Given the description of an element on the screen output the (x, y) to click on. 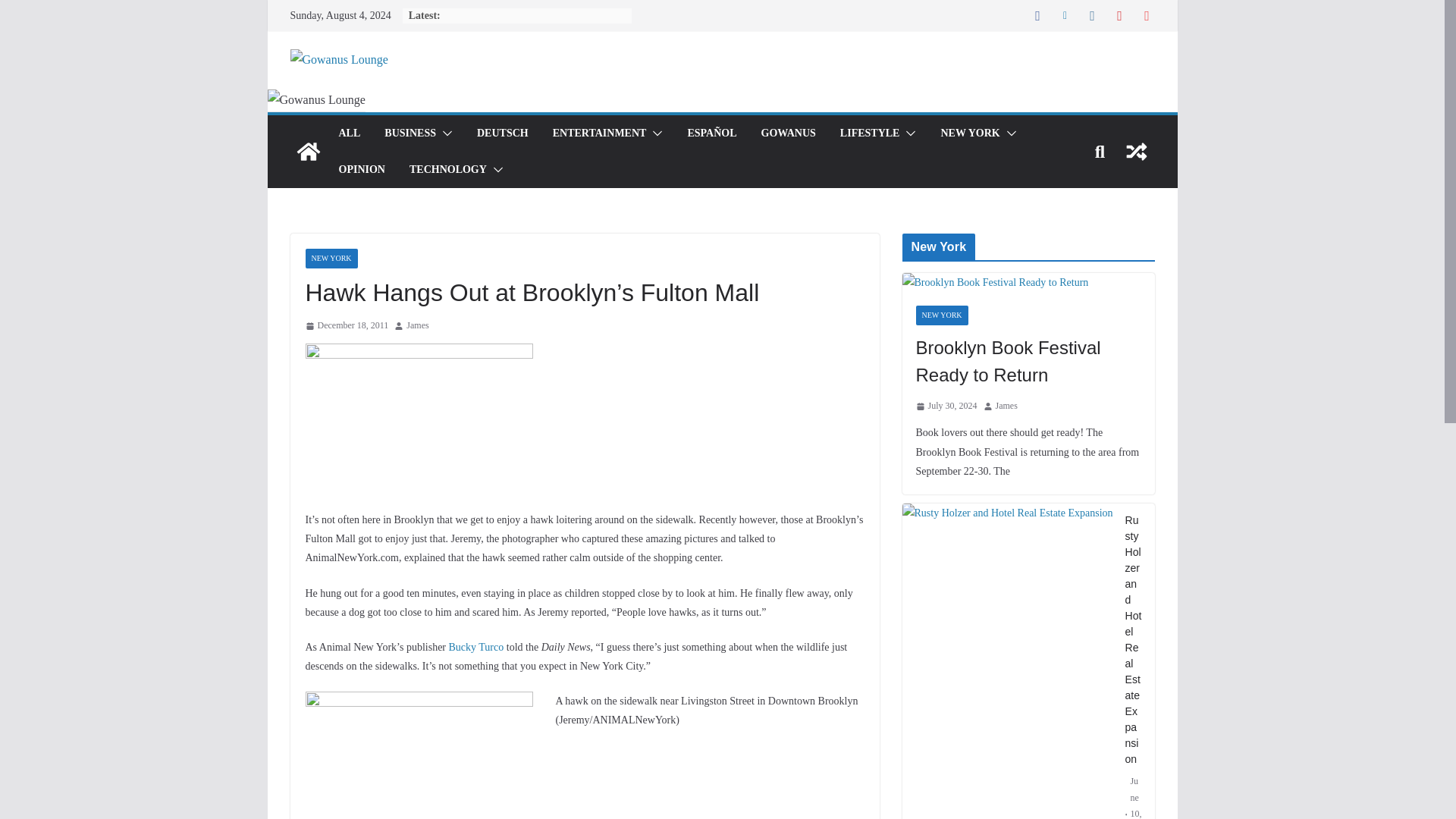
BUSINESS (409, 133)
Hawk in New York (418, 418)
GOWANUS (788, 133)
DEUTSCH (502, 133)
2:12 am (346, 325)
OPINION (360, 169)
Hawk (418, 755)
LIFESTYLE (869, 133)
December 18, 2011 (346, 325)
James (417, 325)
TECHNOLOGY (447, 169)
View a random post (1136, 151)
Brooklyn Book Festival Ready to Return (995, 281)
NEW YORK (969, 133)
Gowanus Lounge (307, 151)
